Given the description of an element on the screen output the (x, y) to click on. 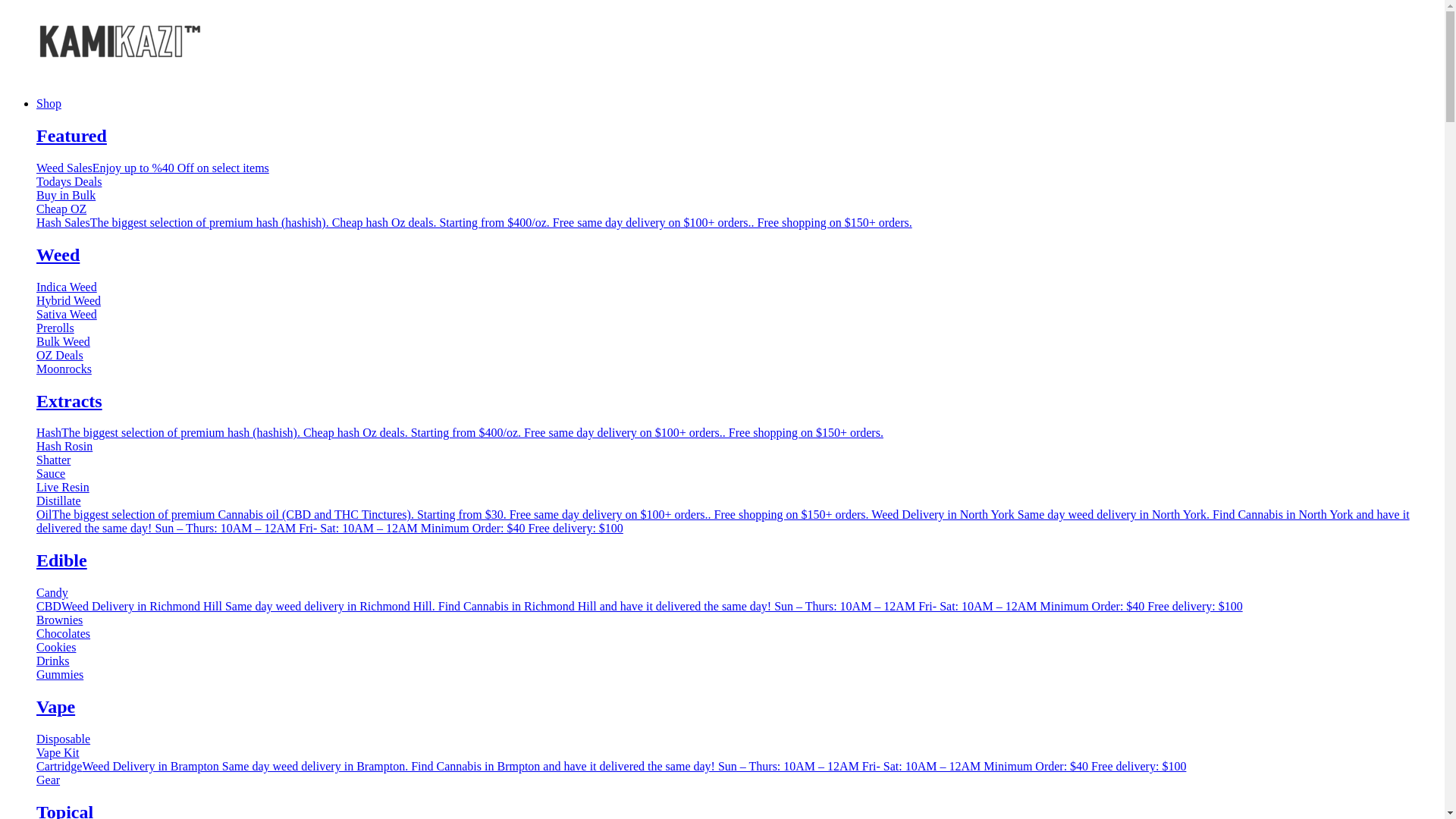
Disposable Element type: text (63, 738)
Featured Element type: text (71, 135)
Bulk Weed Element type: text (63, 341)
Sativa Weed Element type: text (66, 313)
Brownies Element type: text (59, 619)
Gummies Element type: text (59, 674)
Gear Element type: text (47, 779)
Candy Element type: text (52, 592)
Shop Element type: text (737, 103)
Weed SalesEnjoy up to %40 Off on select items Element type: text (152, 167)
Hash Rosin Element type: text (64, 445)
Weed Element type: text (57, 254)
Todays Deals Element type: text (68, 181)
Drinks Element type: text (52, 660)
Extracts Element type: text (69, 401)
Live Resin Element type: text (62, 486)
Skip to content Element type: text (5, 5)
Indica Weed Element type: text (66, 286)
Edible Element type: text (61, 560)
Cheap OZ Element type: text (61, 208)
Sauce Element type: text (50, 473)
Hybrid Weed Element type: text (68, 300)
OZ Deals Element type: text (59, 354)
Vape Element type: text (55, 706)
Vape Kit Element type: text (57, 752)
Shatter Element type: text (53, 459)
Moonrocks Element type: text (63, 368)
Buy in Bulk Element type: text (65, 194)
Prerolls Element type: text (55, 327)
Cookies Element type: text (55, 646)
Distillate Element type: text (58, 500)
Chocolates Element type: text (63, 633)
